Given the description of an element on the screen output the (x, y) to click on. 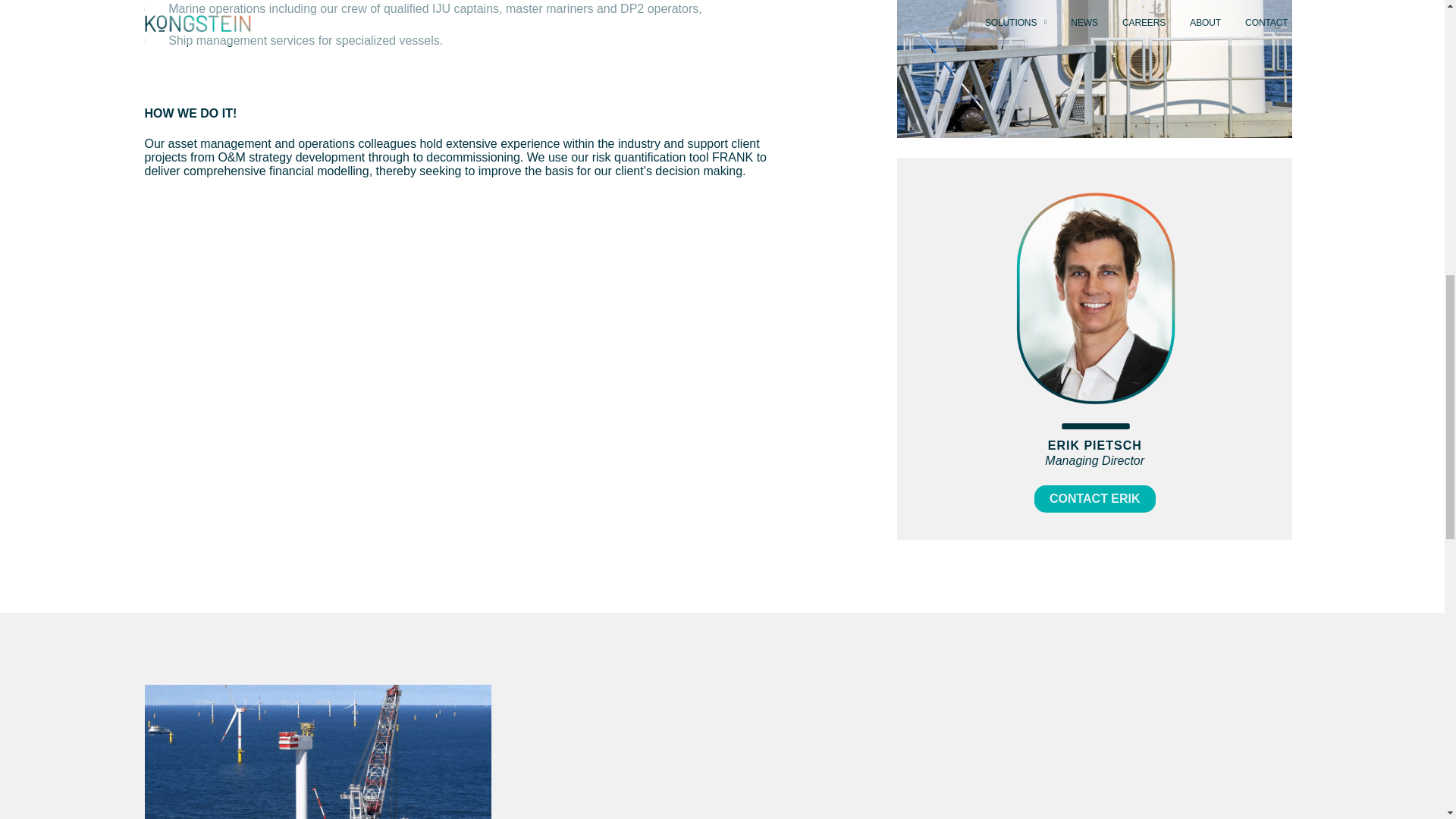
CONTACT ERIK (1094, 498)
